Given the description of an element on the screen output the (x, y) to click on. 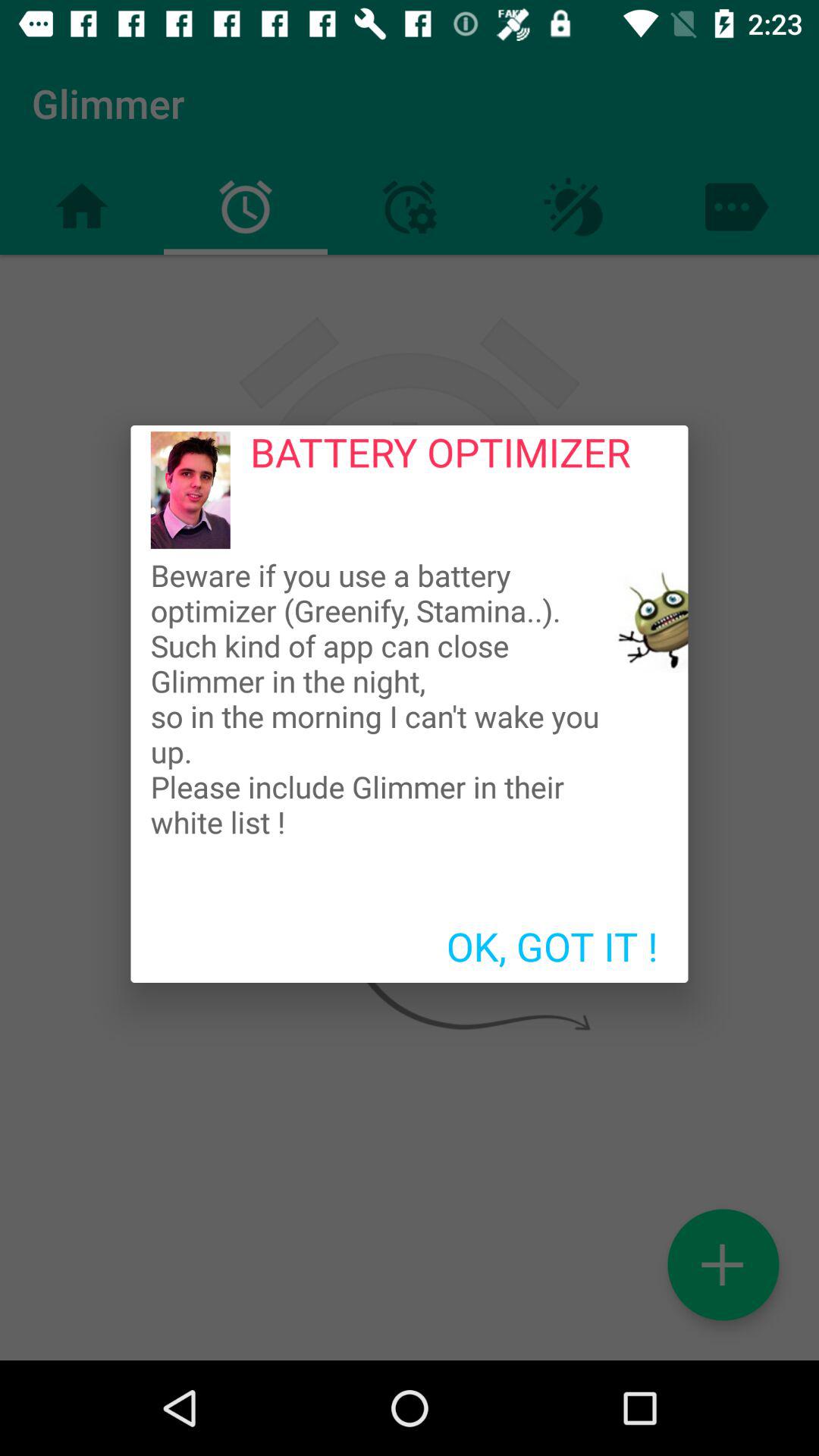
press the ok, got it ! icon (552, 945)
